Given the description of an element on the screen output the (x, y) to click on. 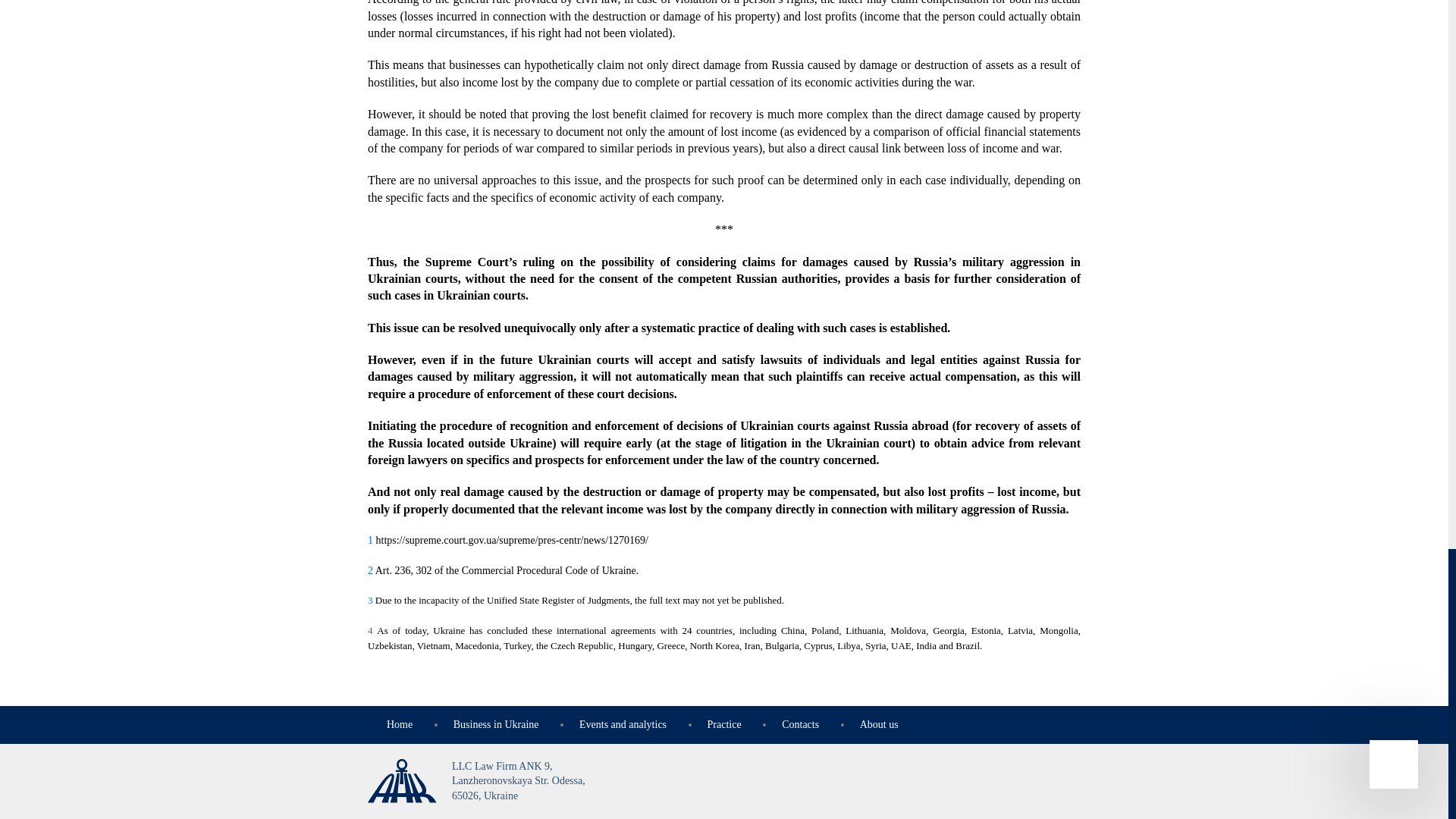
About us (879, 724)
Home (399, 724)
Events and analytics (622, 724)
Contacts (799, 724)
Business in Ukraine (495, 724)
Practice (724, 724)
